Given the description of an element on the screen output the (x, y) to click on. 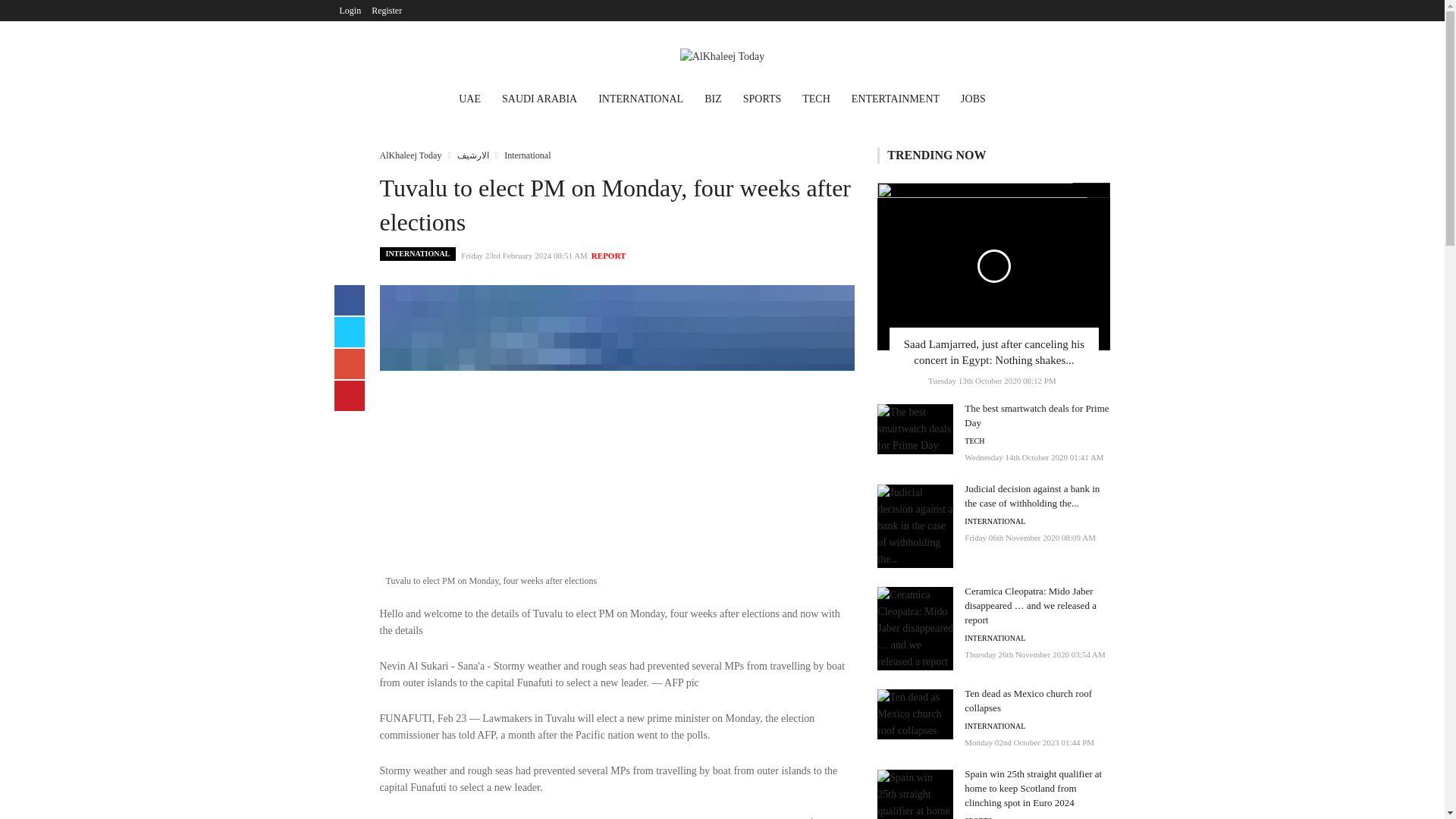
UAE (470, 100)
REPORT (608, 255)
BIZ (713, 100)
International (526, 154)
SAUDI ARABIA (540, 100)
AlKhaleej Today (409, 154)
INTERNATIONAL (641, 100)
ENTERTAINMENT (895, 100)
Login (349, 10)
Register (386, 10)
TECH (816, 100)
Tuvalu to elect PM on Monday, four weeks after elections (616, 436)
JOBS (972, 100)
SPORTS (762, 100)
INTERNATIONAL (416, 254)
